Given the description of an element on the screen output the (x, y) to click on. 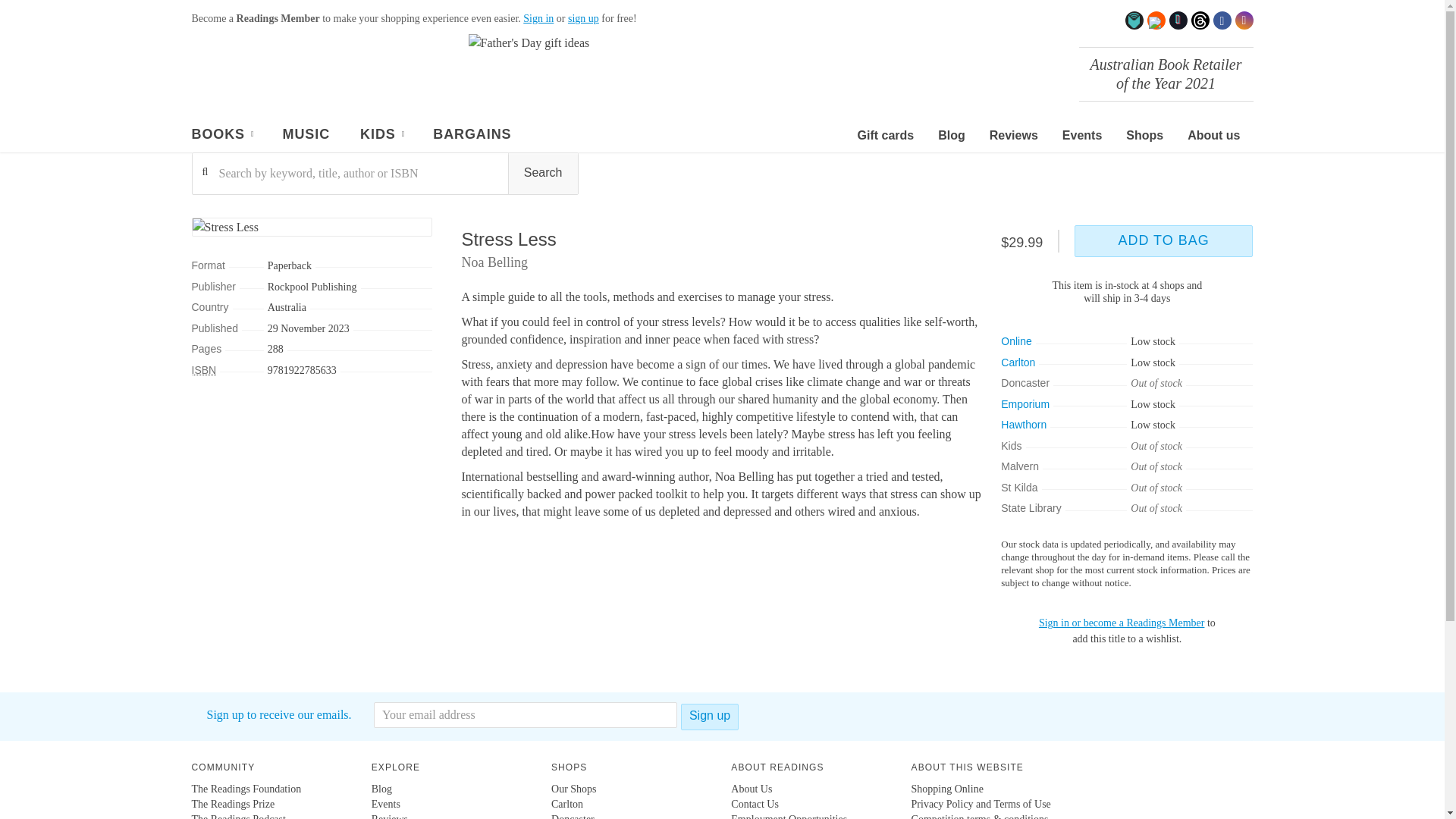
MUSIC (306, 135)
Readings (297, 71)
International Standard Book Number (202, 369)
Sign in (537, 18)
sign up (582, 18)
KIDS (381, 136)
BOOKS (221, 136)
